Given the description of an element on the screen output the (x, y) to click on. 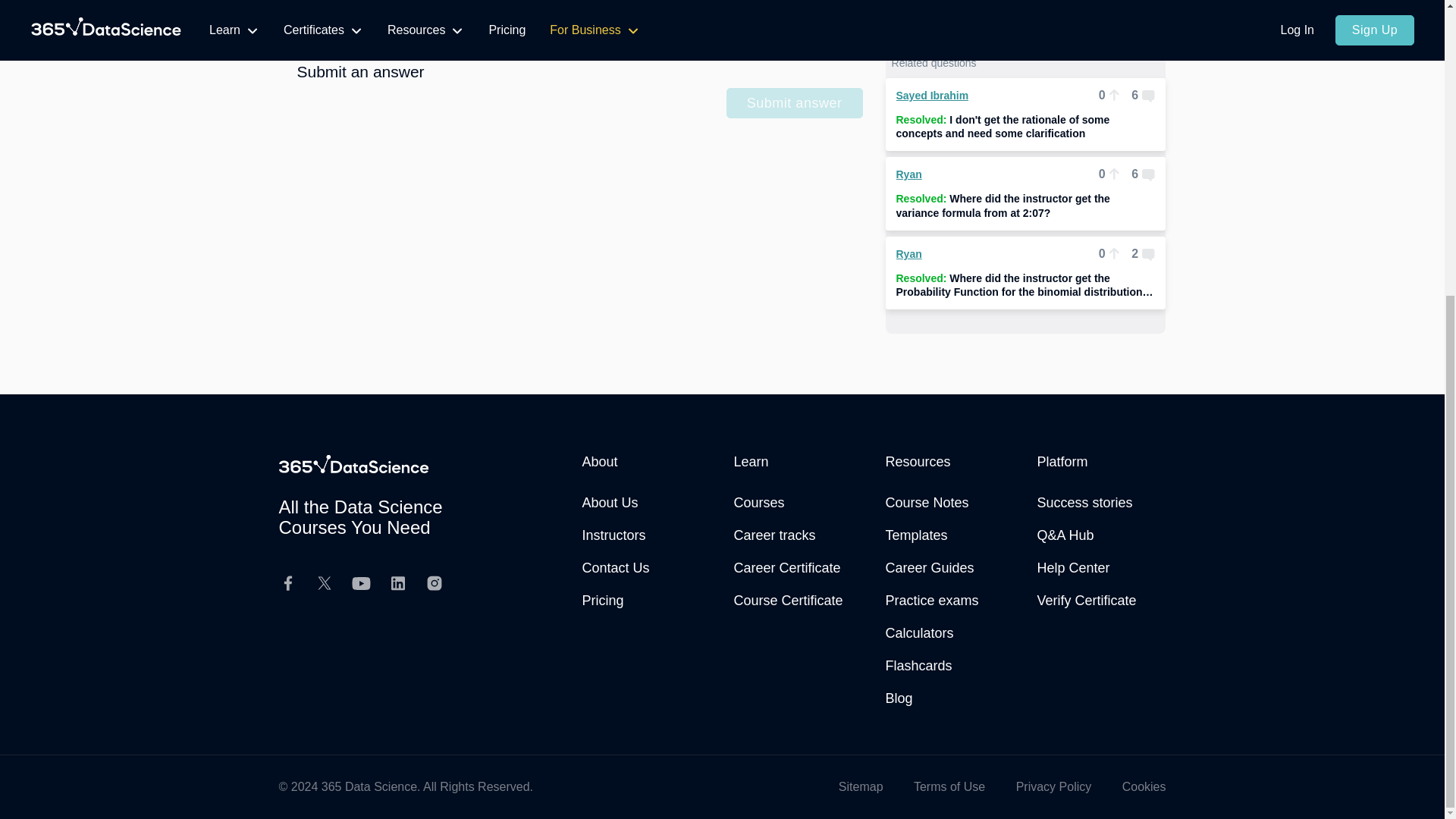
Sayed Ibrahim (932, 95)
Ryan (908, 174)
Submit answer (794, 102)
